Given the description of an element on the screen output the (x, y) to click on. 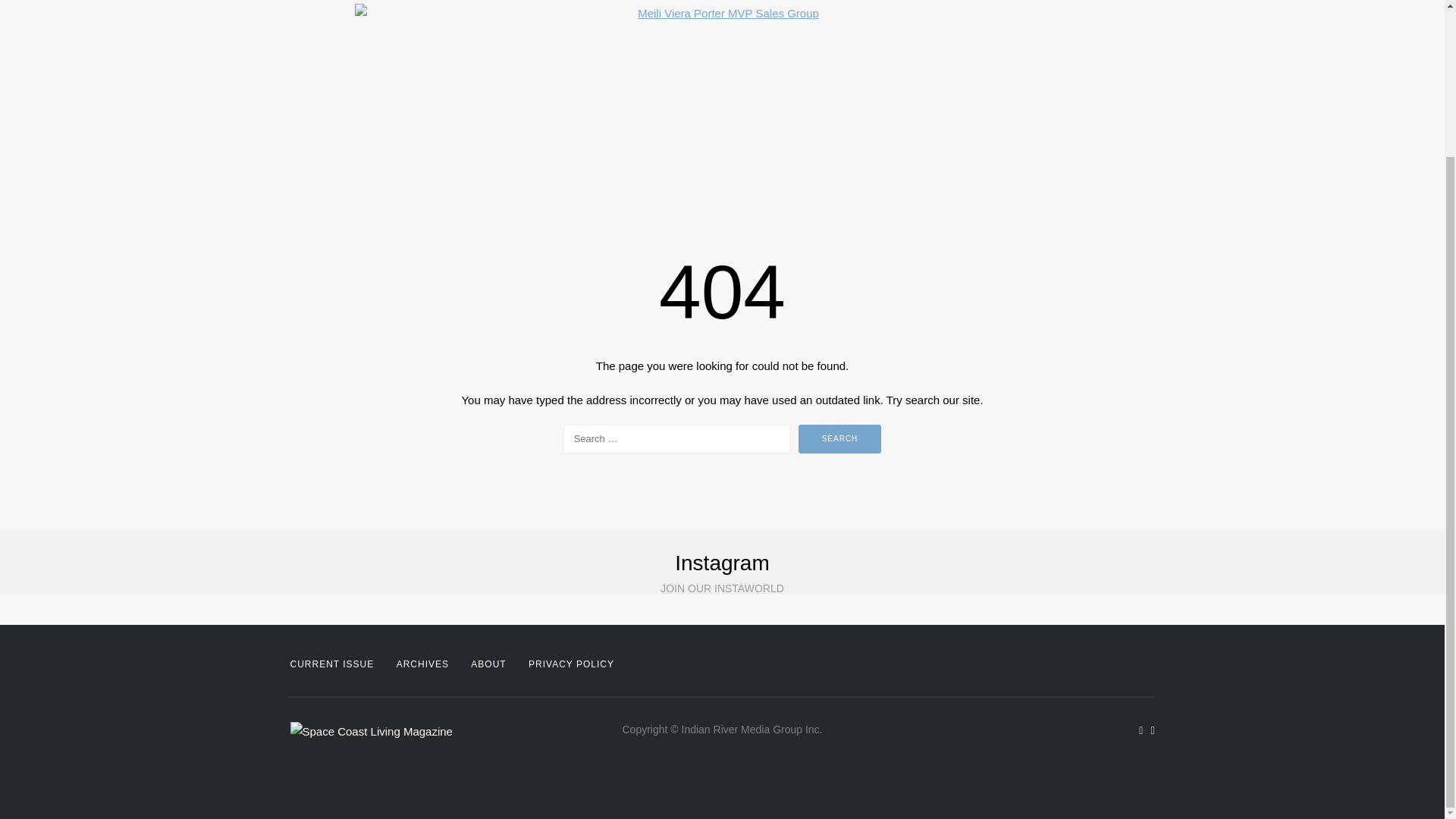
PRIVACY POLICY (571, 664)
Search (839, 439)
ARCHIVES (422, 664)
CURRENT ISSUE (331, 664)
Search (839, 439)
ABOUT (487, 664)
